Given the description of an element on the screen output the (x, y) to click on. 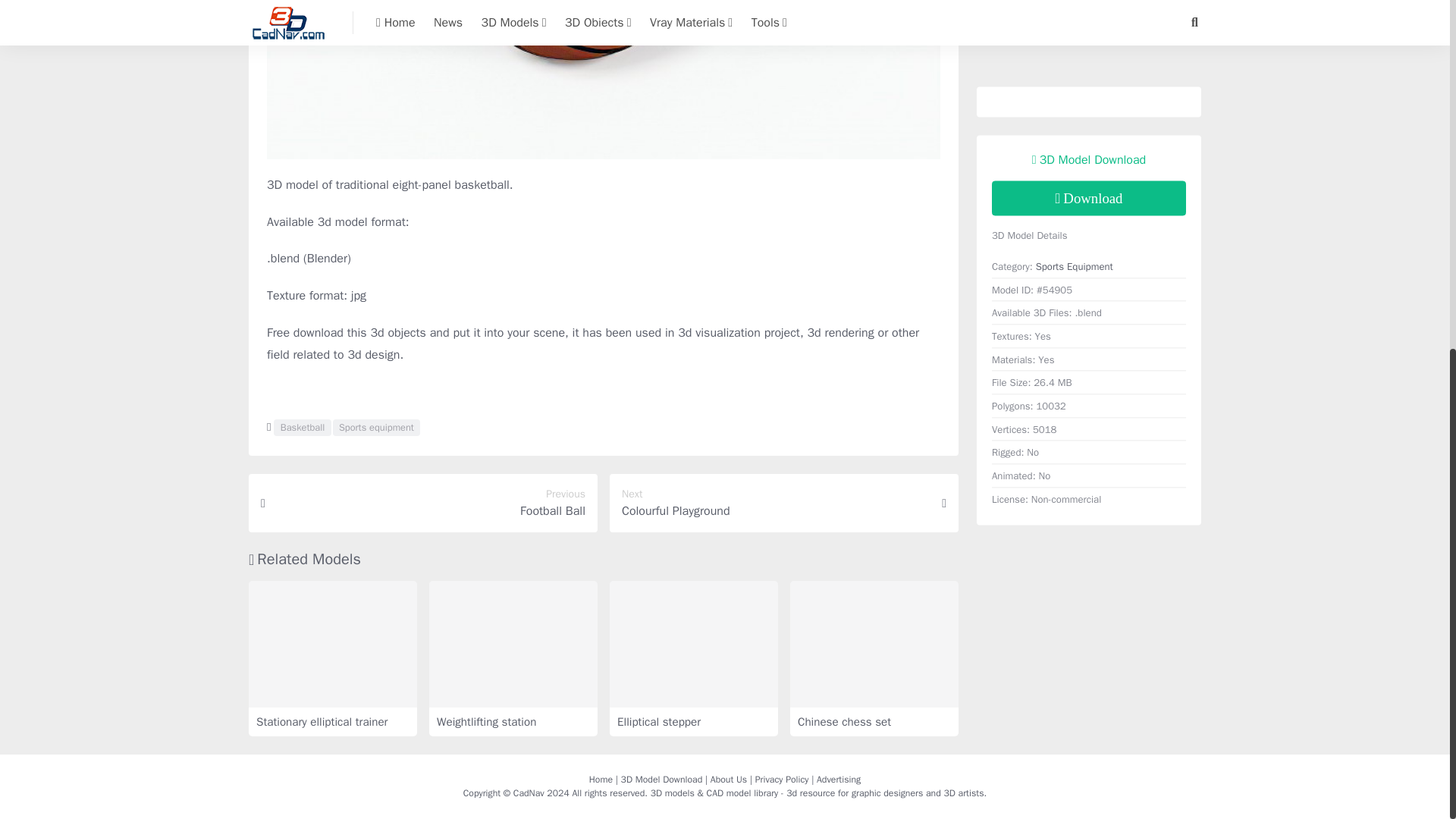
Elliptical stepper 3d model download (693, 643)
Weightlifting station 3d model download (512, 643)
Sports equipment 3d model (376, 427)
download Traditional Eight-panel Basketball 3d model (1088, 198)
Stationary elliptical trainer 3d model download (332, 643)
Chinese chess set 3d model download (874, 643)
Basketball 3d model (301, 427)
